Given the description of an element on the screen output the (x, y) to click on. 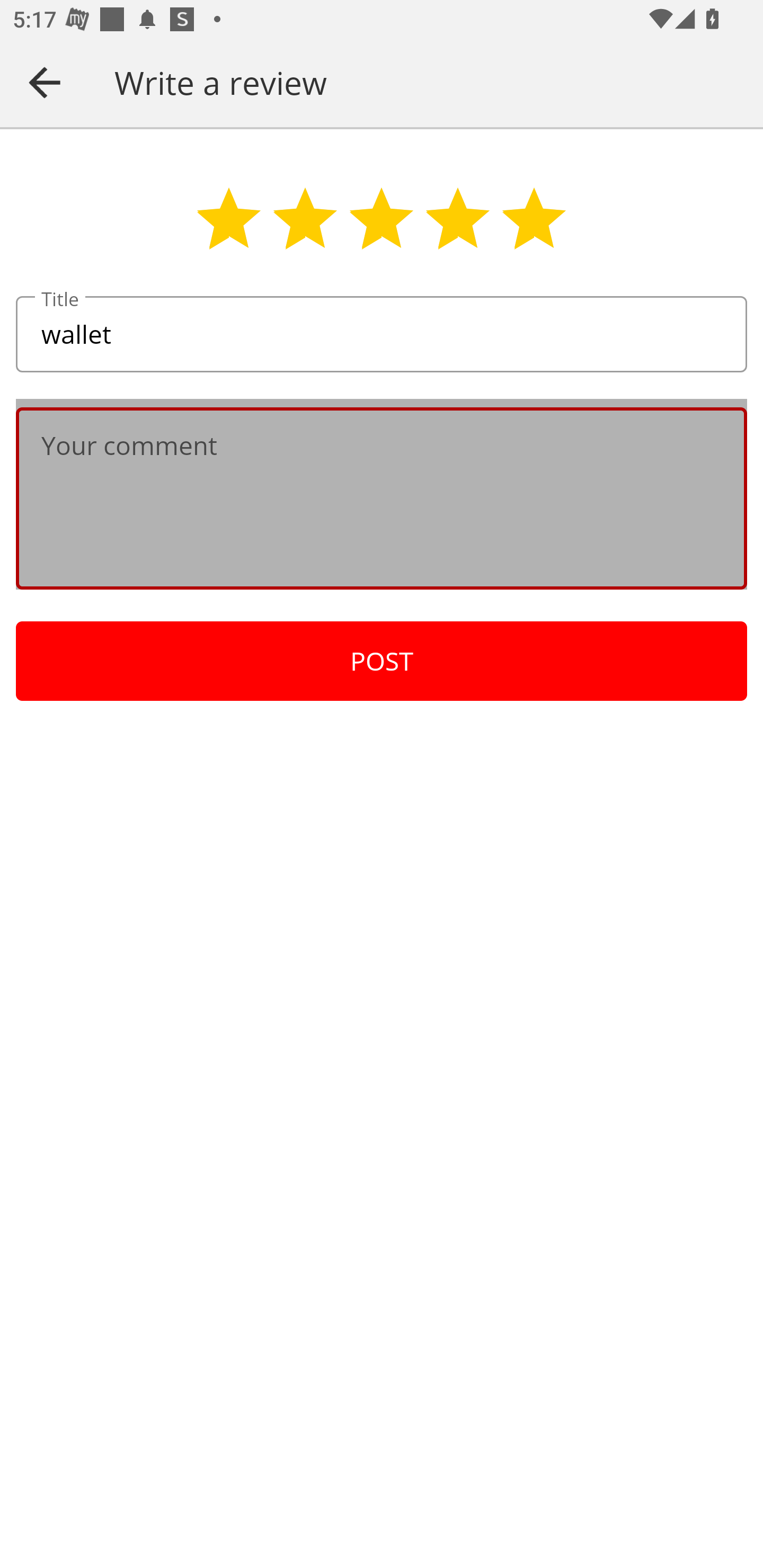
Navigate up (44, 82)
wallet (381, 334)
Your comment (381, 498)
POST (381, 660)
